Given the description of an element on the screen output the (x, y) to click on. 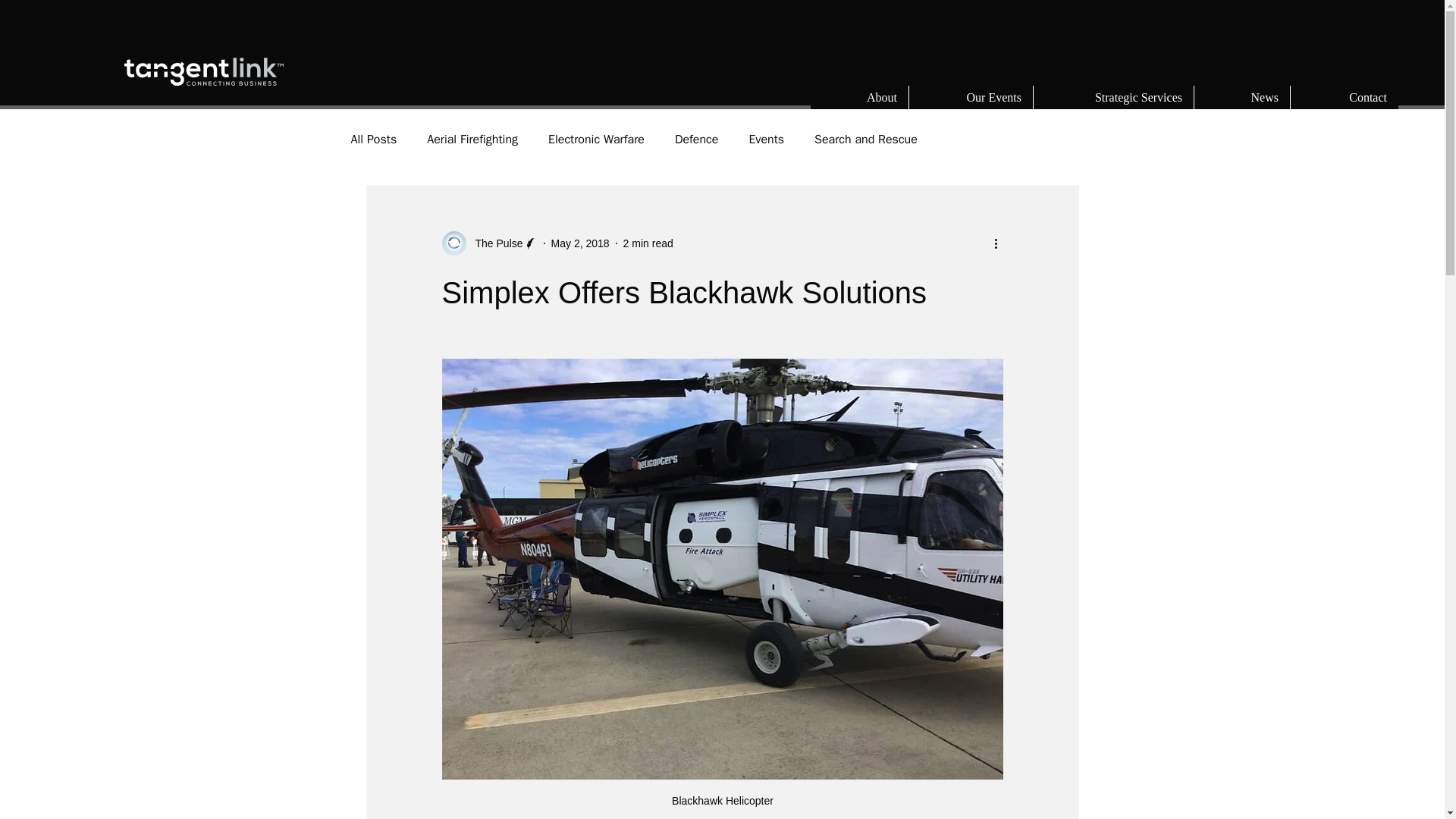
2 min read (647, 242)
All Posts (373, 139)
Search and Rescue (865, 139)
Events (766, 139)
Electronic Warfare (596, 139)
May 2, 2018 (580, 242)
Aerial Firefighting (472, 139)
The Pulse (493, 242)
Defence (697, 139)
